Given the description of an element on the screen output the (x, y) to click on. 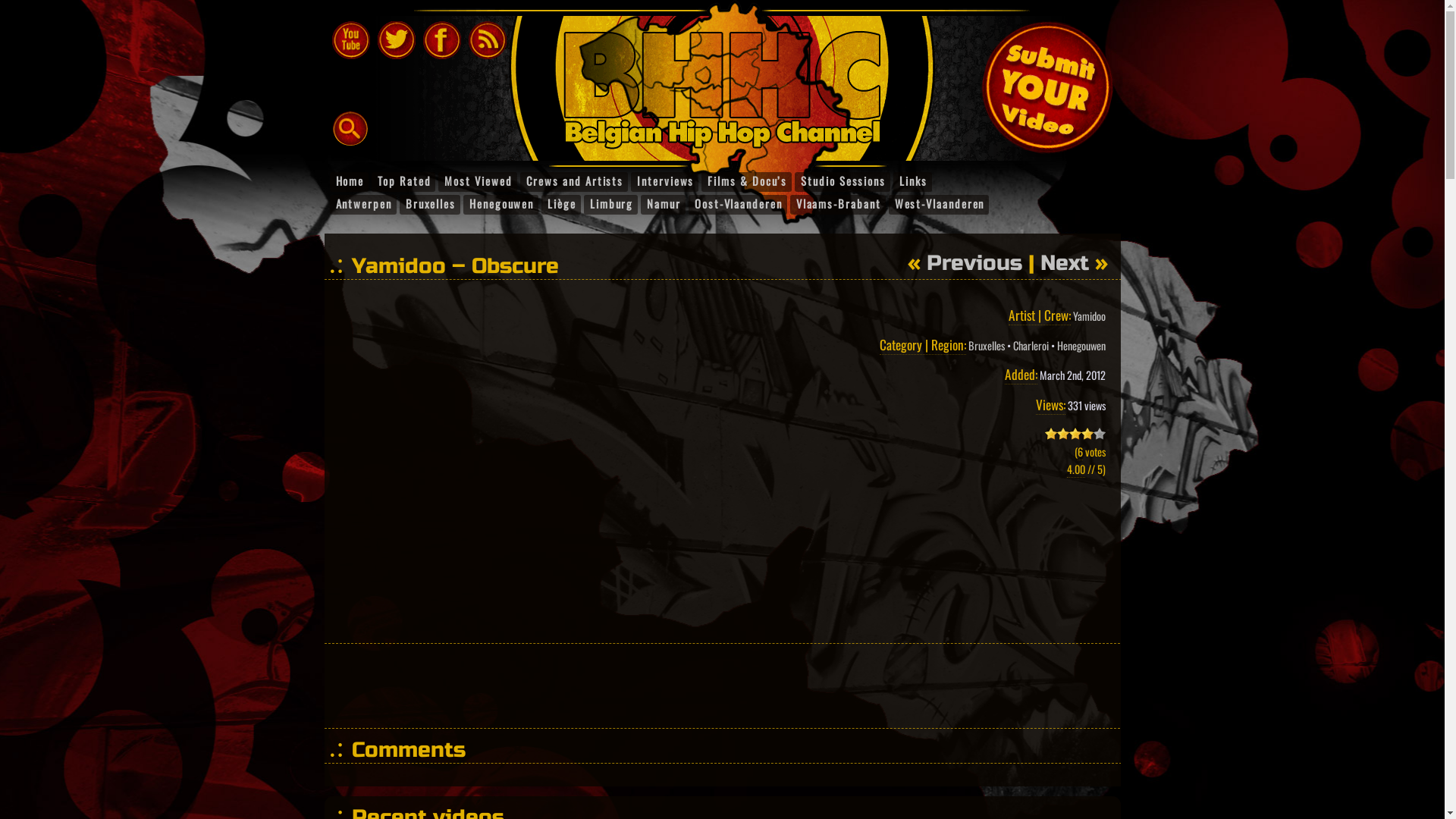
Vlaams-Brabant Element type: text (837, 204)
Follow BHHC On Facebook Element type: text (442, 40)
Most Viewed Element type: text (477, 181)
Antwerpen Element type: text (362, 204)
Top Rated Element type: text (403, 181)
Limburg Element type: text (610, 204)
West-Vlaanderen Element type: text (938, 204)
Studio Sessions Element type: text (842, 181)
Links Element type: text (912, 181)
Search Element type: text (21, 7)
Henegouwen Element type: text (1081, 345)
Submit Your Music Video Element type: text (1034, 74)
Yamidoo Element type: text (1088, 315)
Next Element type: text (1064, 263)
Bruxelles Element type: text (429, 204)
Namur Element type: text (662, 204)
Henegouwen Element type: text (500, 204)
Charleroi Element type: text (1030, 345)
Advertisement Element type: hover (721, 685)
Crews and Artists Element type: text (574, 181)
Bruxelles Element type: text (985, 345)
Previous Element type: text (974, 263)
Interviews Element type: text (664, 181)
BHHC RSS feeds Element type: text (487, 40)
Oost-Vlaanderen Element type: text (737, 204)
Home Element type: text (348, 181)
Follow BHHC On Twitter Element type: text (396, 40)
The Belgian Hip Hop Channel On Youtube Element type: text (351, 40)
